Given the description of an element on the screen output the (x, y) to click on. 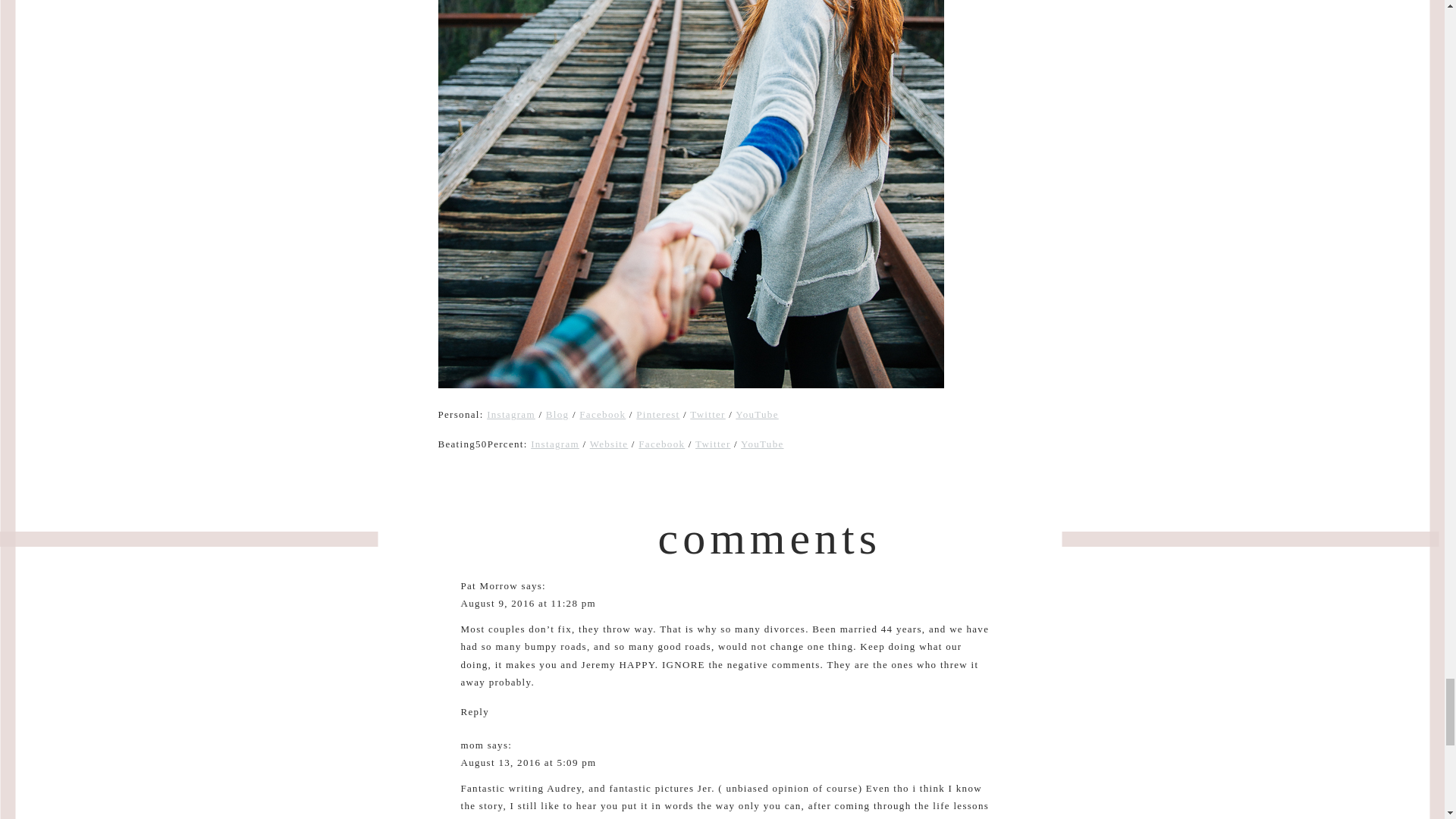
Reply (475, 711)
August 9, 2016 at 11:28 pm (528, 603)
Instagram (555, 443)
Blog (557, 414)
Facebook (661, 443)
Pat Morrow (489, 585)
Website (608, 443)
August 13, 2016 at 5:09 pm (528, 762)
Instagram (510, 414)
YouTube (762, 443)
Facebook (602, 414)
YouTube (756, 414)
Twitter (707, 414)
Pinterest (657, 414)
Twitter (712, 443)
